Given the description of an element on the screen output the (x, y) to click on. 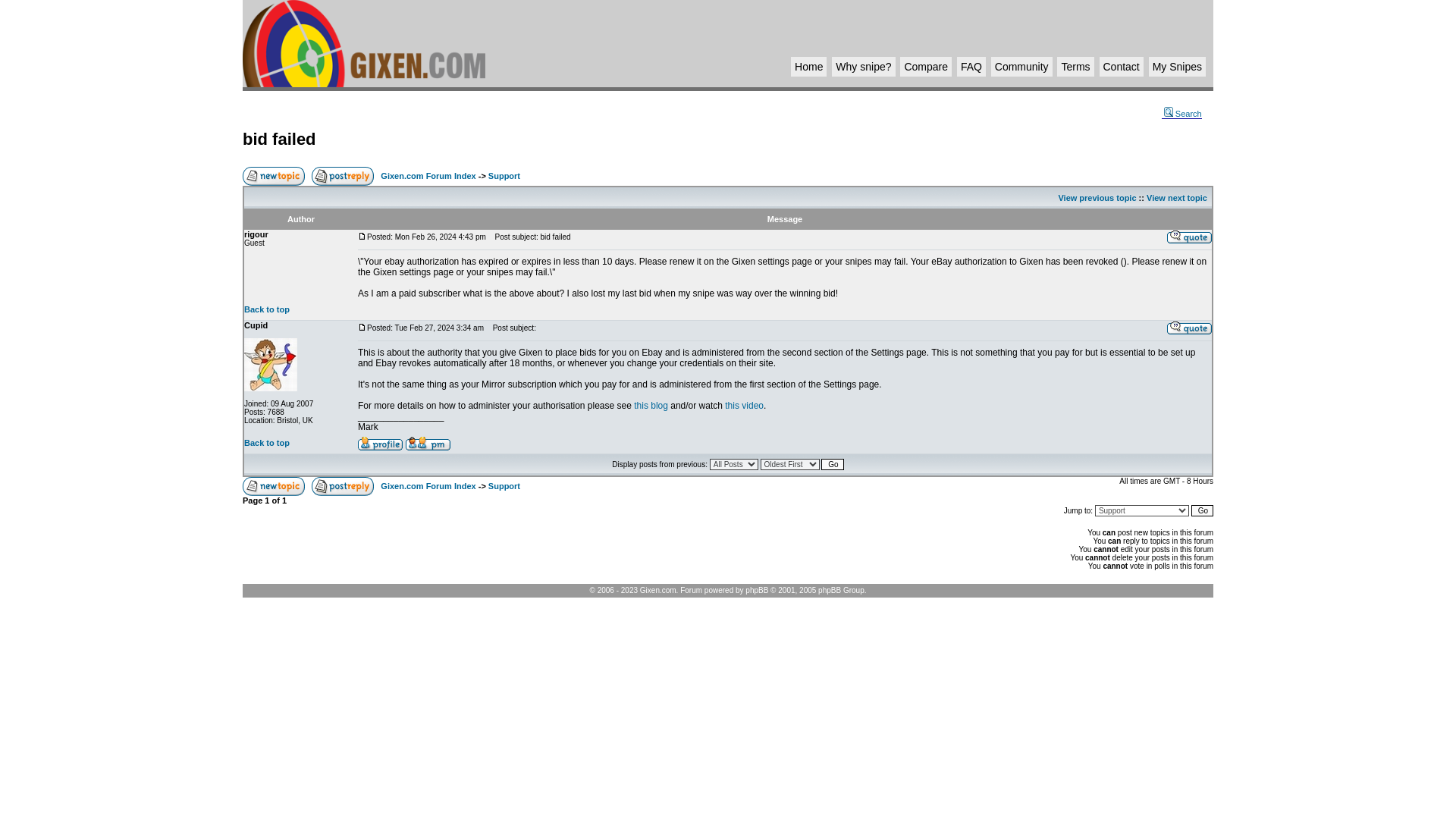
Reply with quote (1189, 236)
Gixen.com Forum Index (428, 175)
Why snipe? (863, 66)
View next topic (1177, 197)
View previous topic (1096, 197)
Search (1181, 113)
Post (362, 235)
Home (808, 66)
Go (1201, 510)
View user's profile (380, 443)
Go (832, 464)
Contact (1120, 66)
Support (503, 175)
Community (1021, 66)
My Snipes (1177, 66)
